Given the description of an element on the screen output the (x, y) to click on. 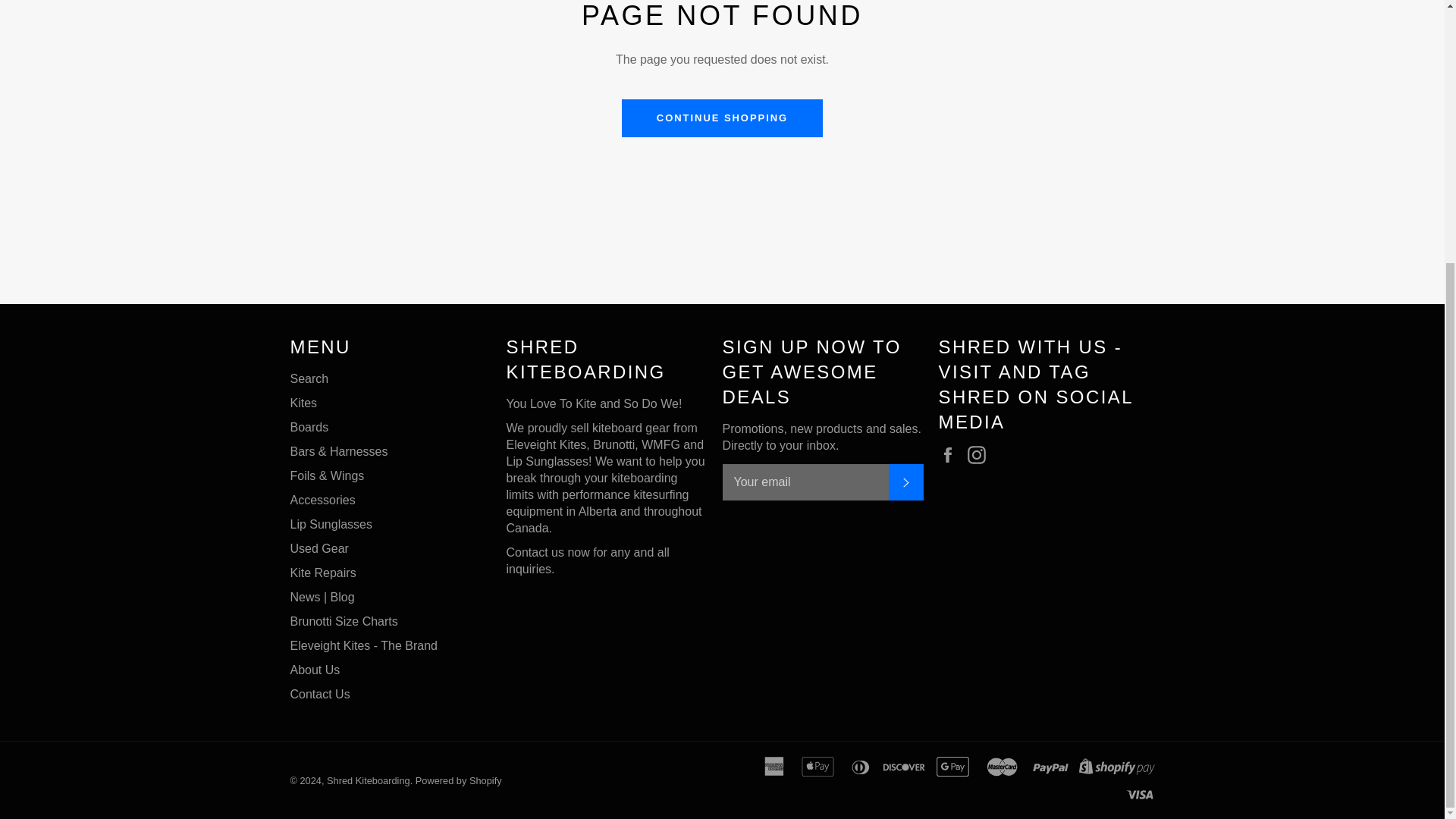
Lip Sunglasses (330, 523)
Search (309, 378)
Shred Kiteboarding on Instagram (980, 454)
Kites (303, 402)
CONTINUE SHOPPING (721, 118)
Accessories (322, 499)
Boards (309, 427)
Shred Kiteboarding on Facebook (951, 454)
